Given the description of an element on the screen output the (x, y) to click on. 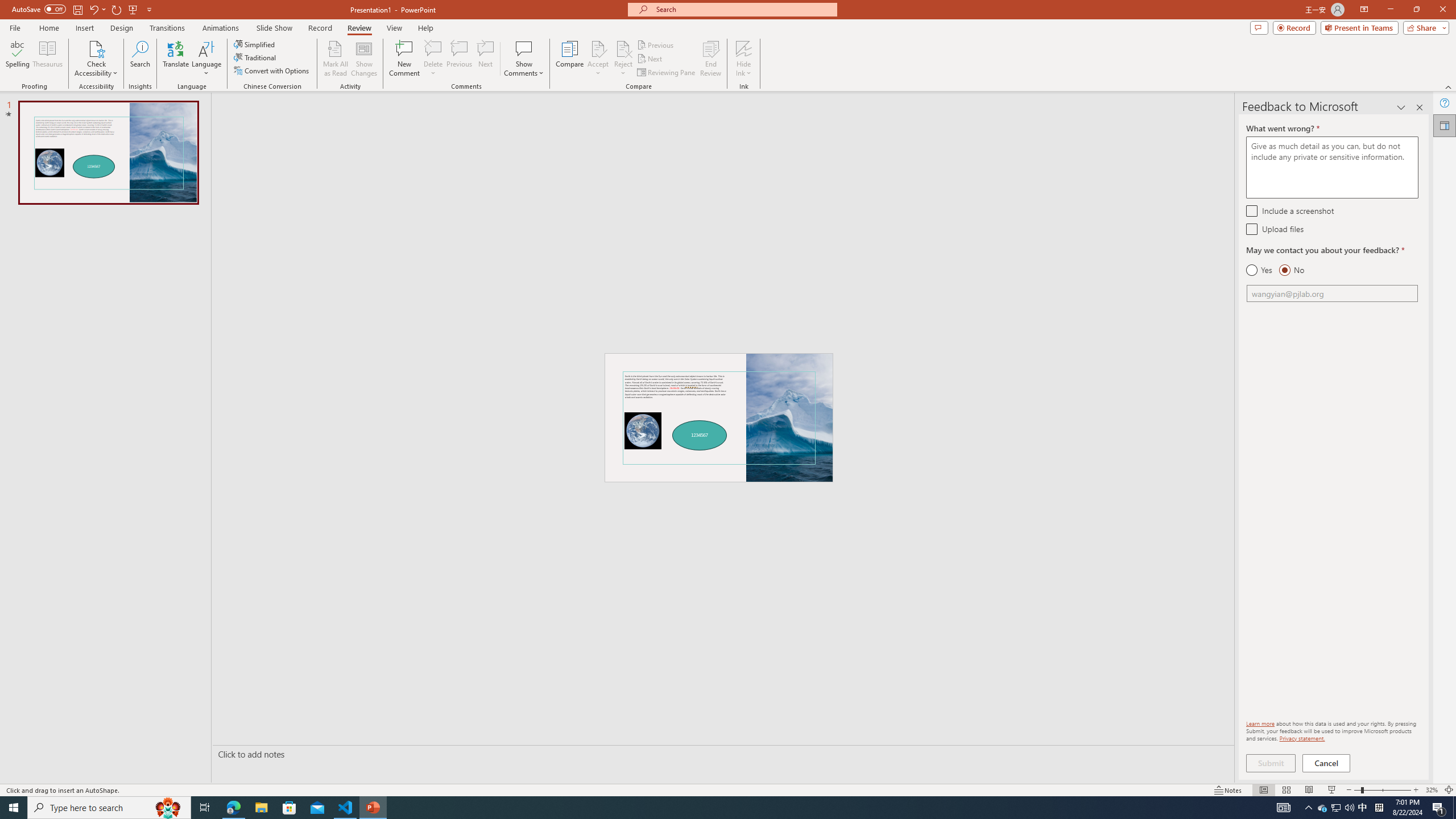
Feedback to Microsoft (1444, 125)
Traditional (255, 56)
Translate (175, 58)
Compare (569, 58)
Privacy statement. (1301, 738)
Upload files (1251, 228)
Thesaurus... (47, 58)
Simplified (254, 44)
